Given the description of an element on the screen output the (x, y) to click on. 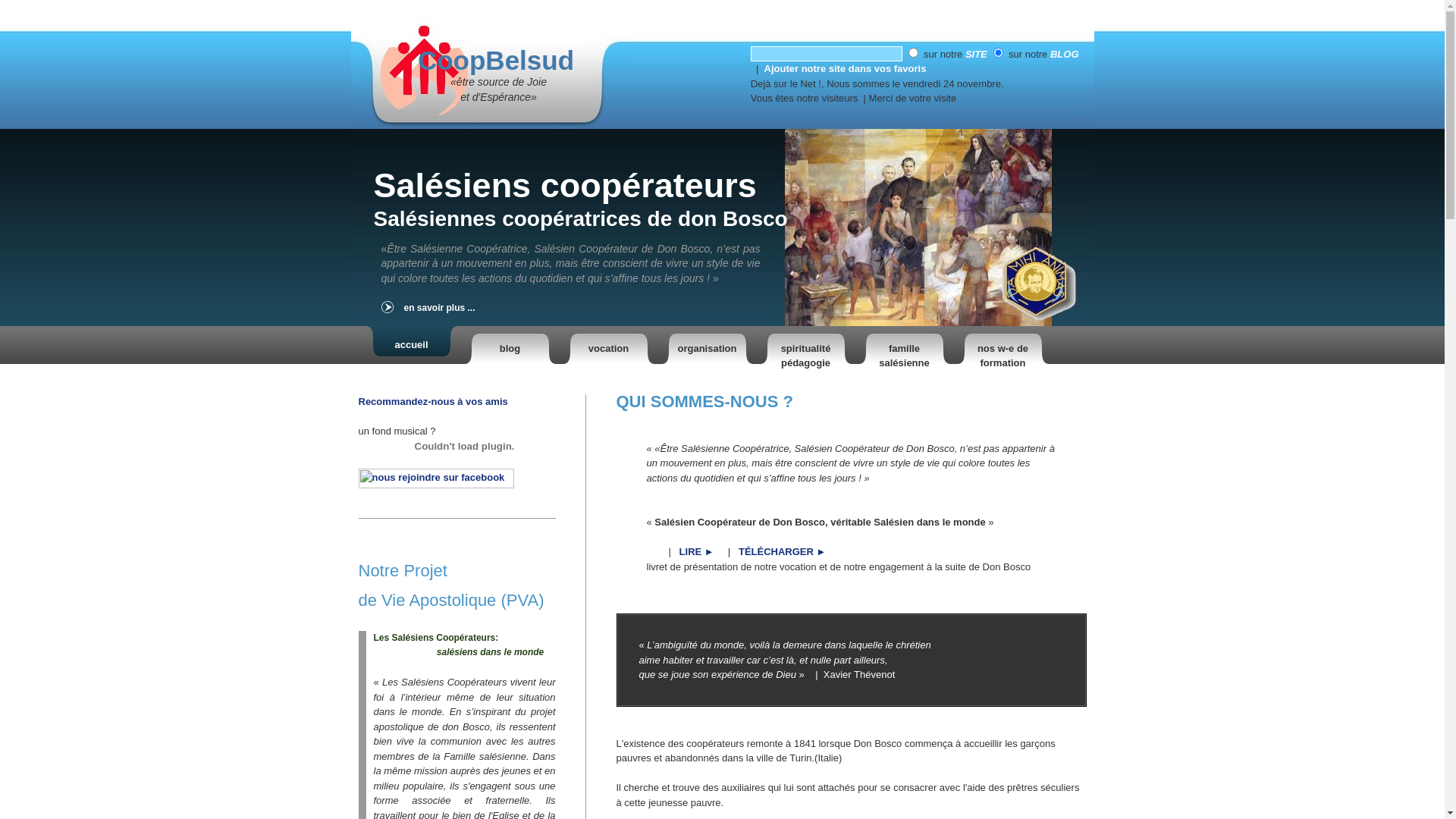
nous rejoindre sur Facebook Element type: hover (435, 484)
nos w-e de
formation Element type: text (1002, 345)
accueil Element type: text (410, 345)
vocation Element type: text (607, 345)
Ajouter notre site dans vos favoris Element type: text (845, 68)
rechercher Element type: hover (826, 53)
blog Element type: text (509, 345)
en savoir plus ... Element type: text (467, 308)
organisation Element type: text (706, 345)
